Given the description of an element on the screen output the (x, y) to click on. 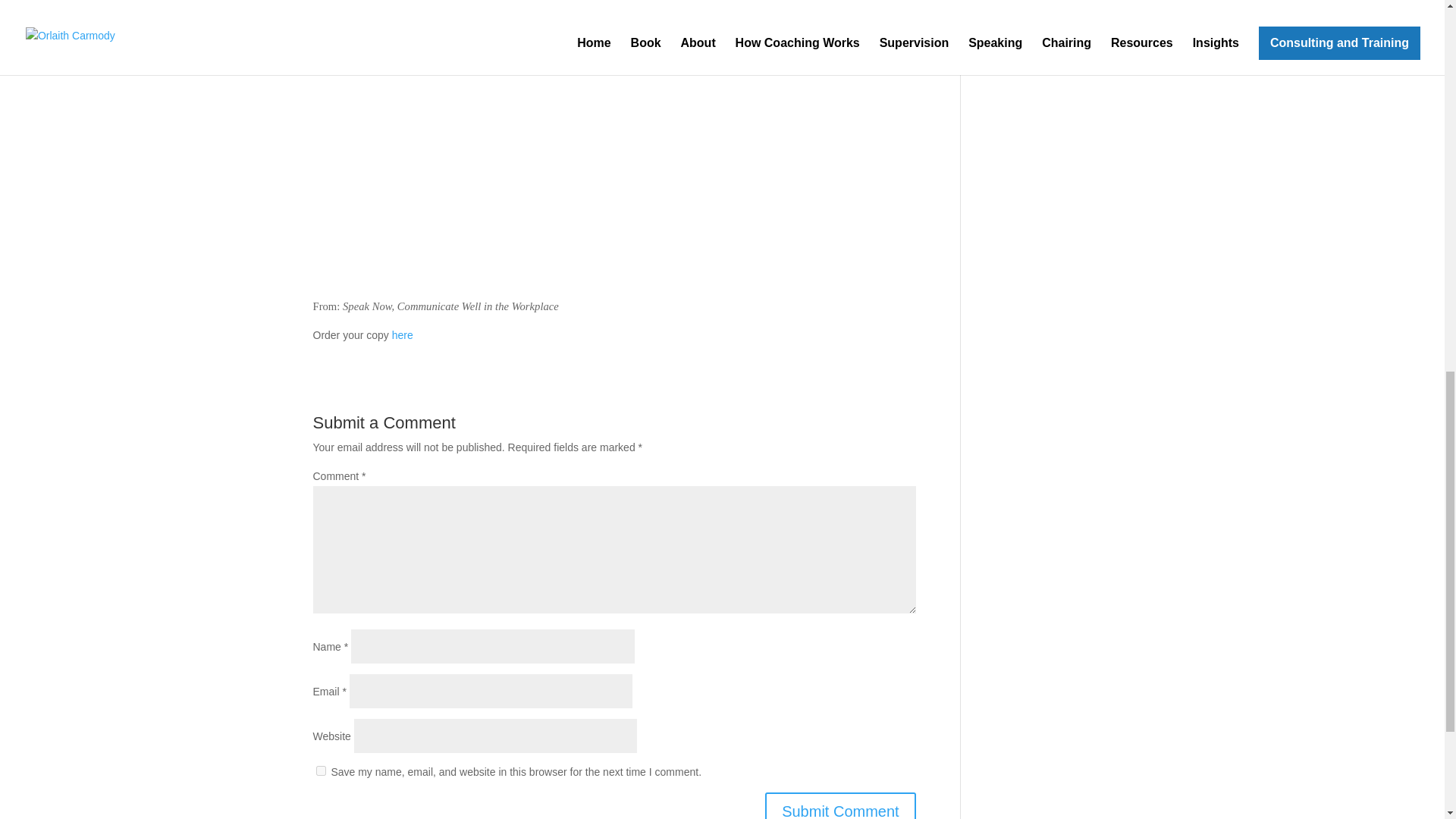
Submit Comment (840, 805)
yes (319, 770)
here (402, 335)
Submit Comment (840, 805)
